Given the description of an element on the screen output the (x, y) to click on. 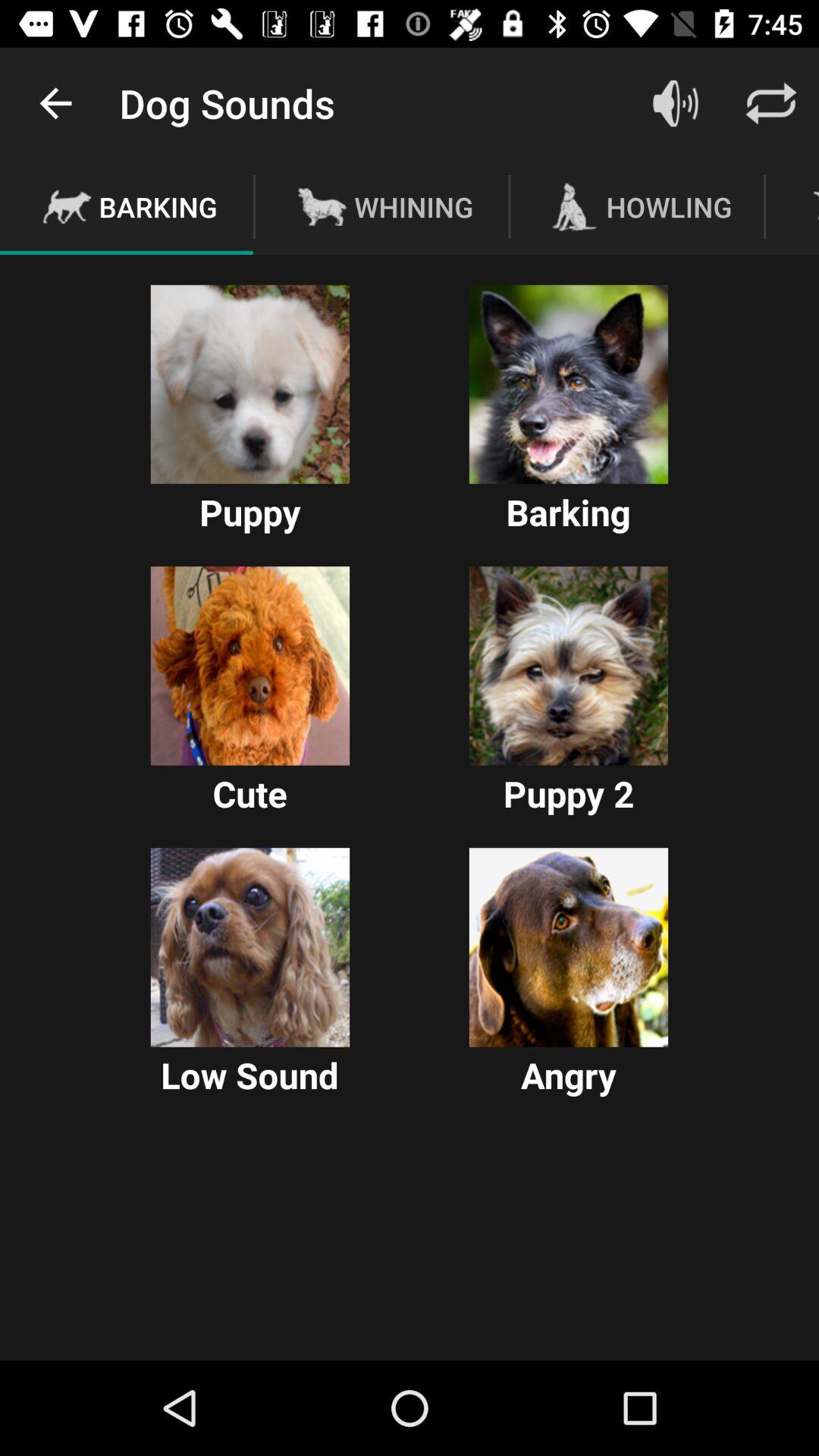
lowers the sound of the bark (249, 947)
